Given the description of an element on the screen output the (x, y) to click on. 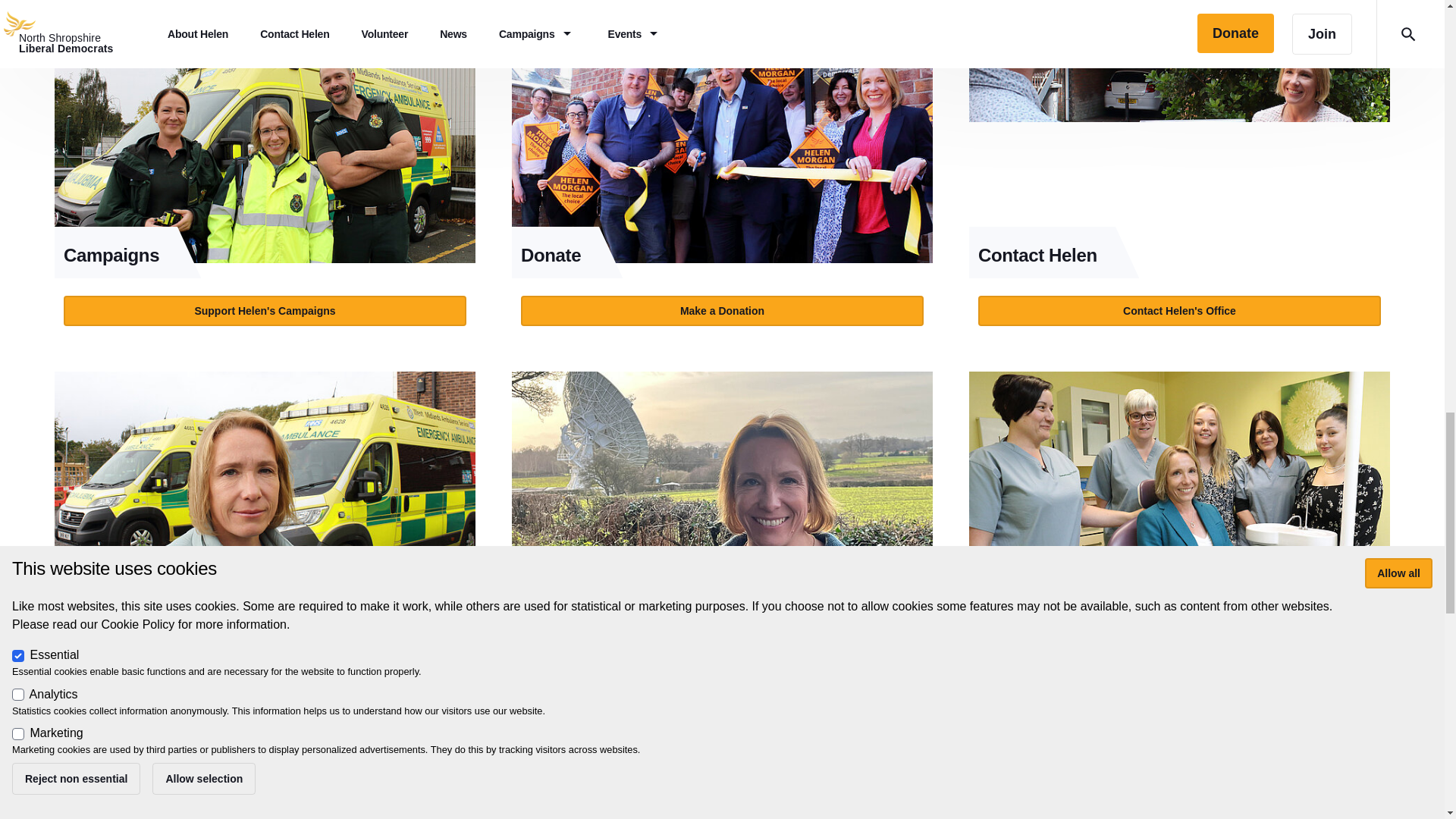
View (1179, 180)
Support Helen's Campaigns (264, 310)
View (722, 180)
Donate (722, 144)
Contact Helen (1179, 144)
View (265, 525)
Dental Campaign (1179, 489)
Rural Roaming Campaign (722, 489)
Campaigns (265, 144)
Support Helen's Ambulance Campaign (264, 655)
